Given the description of an element on the screen output the (x, y) to click on. 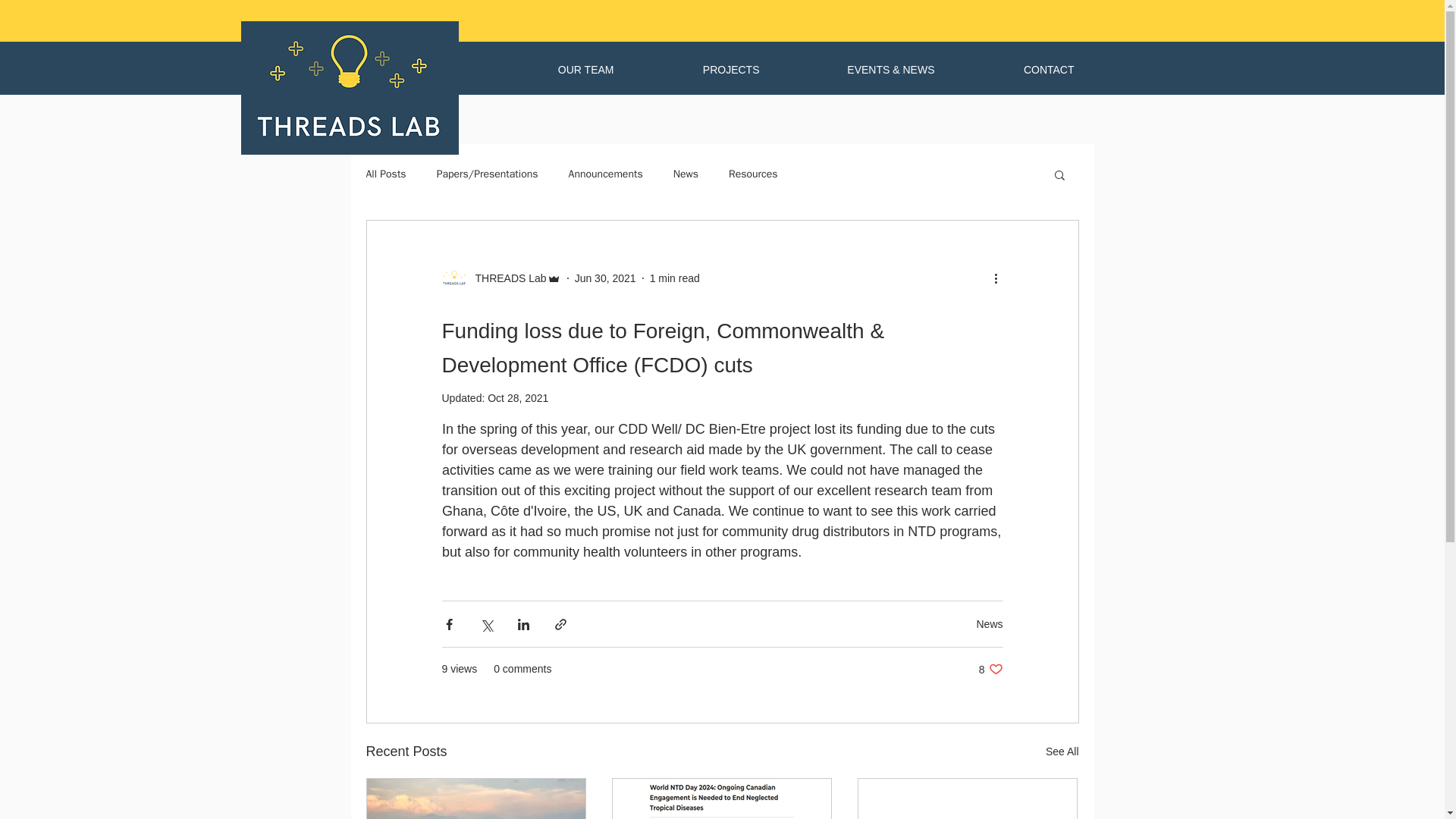
Jun 30, 2021 (605, 277)
See All (1061, 751)
News (989, 623)
Resources (753, 173)
THREADS Lab (500, 278)
Oct 28, 2021 (517, 398)
CONTACT (1016, 69)
PROJECTS (697, 69)
Announcements (606, 173)
THREADS Lab (505, 277)
